Given the description of an element on the screen output the (x, y) to click on. 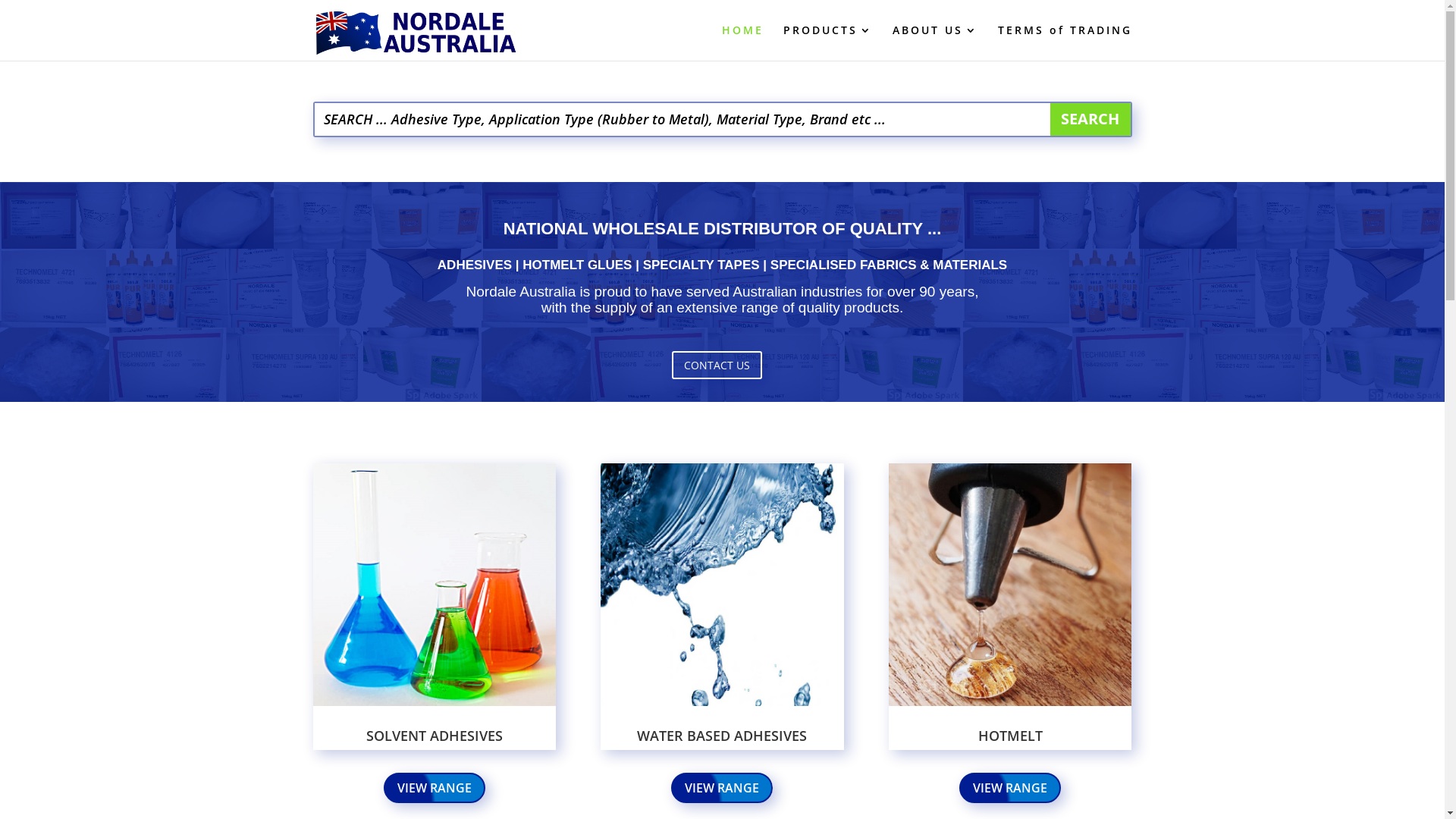
VIEW RANGE Element type: text (1009, 787)
HOTMELT Element type: text (1010, 735)
ABOUT US Element type: text (934, 42)
PRODUCTS Element type: text (827, 42)
SOLVENT ADHESIVES Element type: text (434, 735)
VIEW RANGE Element type: text (721, 787)
WATER BASED ADHESIVES Element type: text (721, 735)
Search Element type: text (1090, 119)
TERMS of TRADING Element type: text (1064, 42)
VIEW RANGE Element type: text (434, 787)
CONTACT US Element type: text (716, 364)
HOME Element type: text (742, 42)
